Given the description of an element on the screen output the (x, y) to click on. 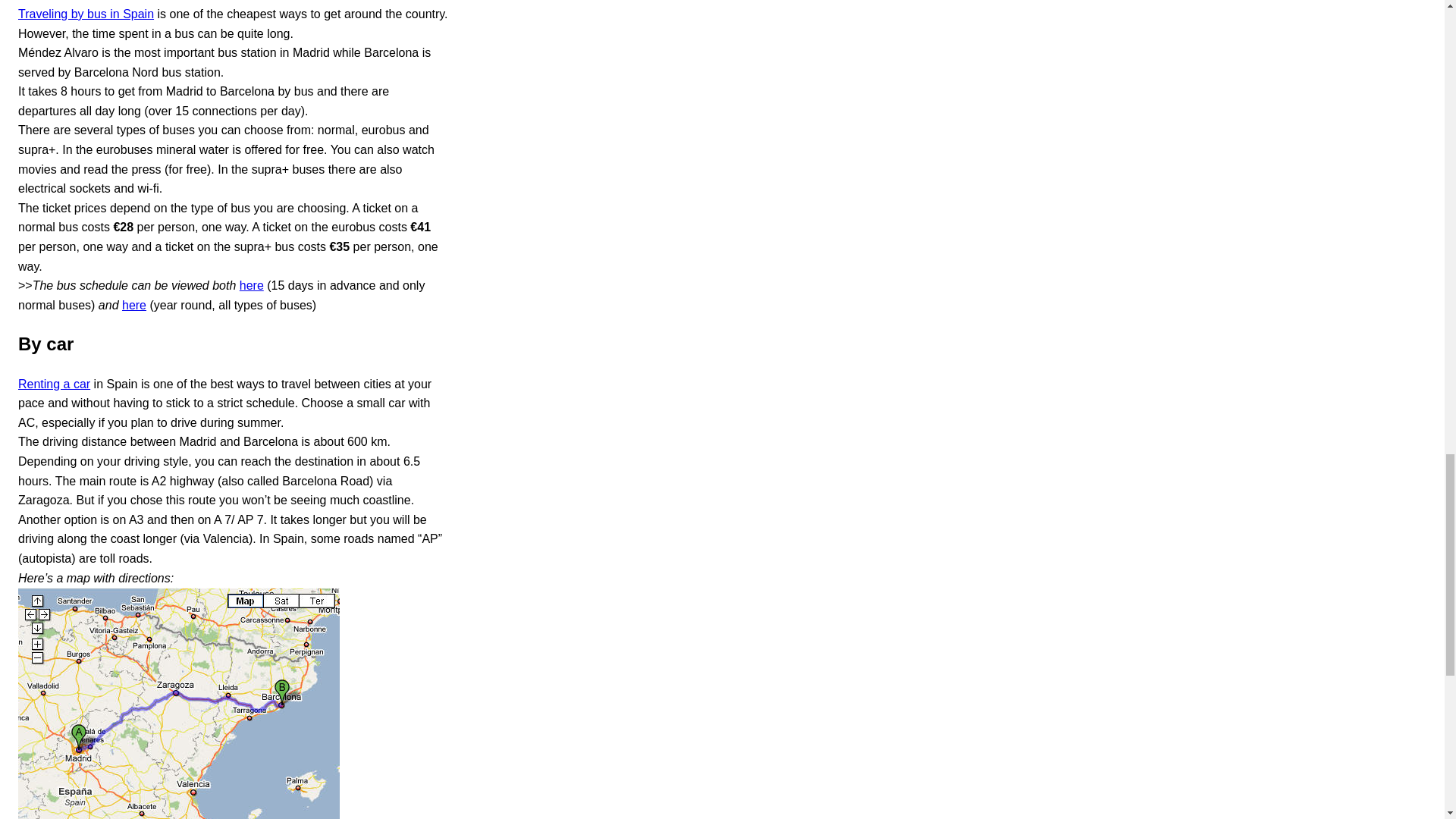
here (134, 305)
Traveling by bus in Spain (85, 13)
here (251, 285)
Renting a car (53, 383)
